Given the description of an element on the screen output the (x, y) to click on. 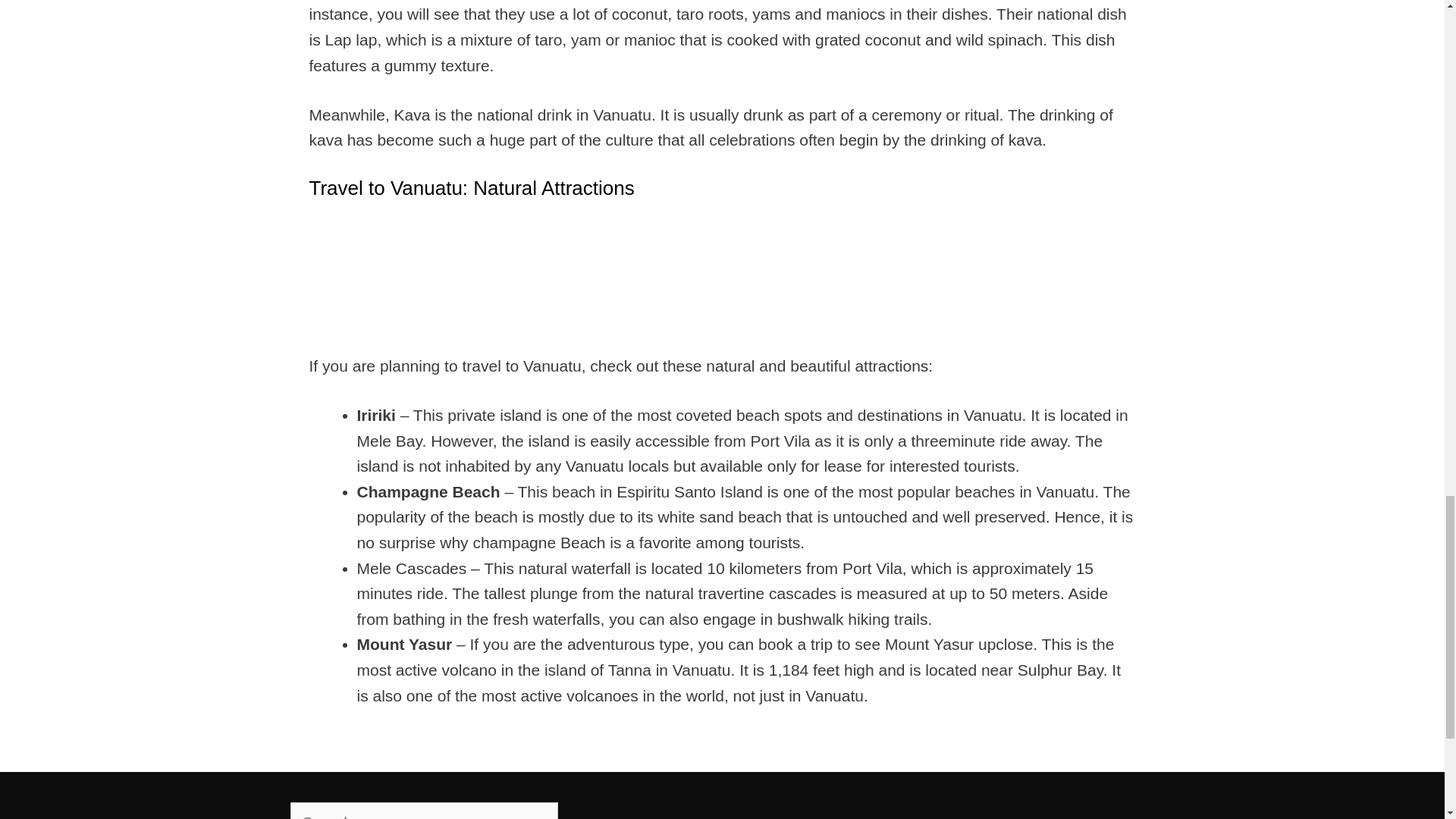
Search for: (423, 810)
